Given the description of an element on the screen output the (x, y) to click on. 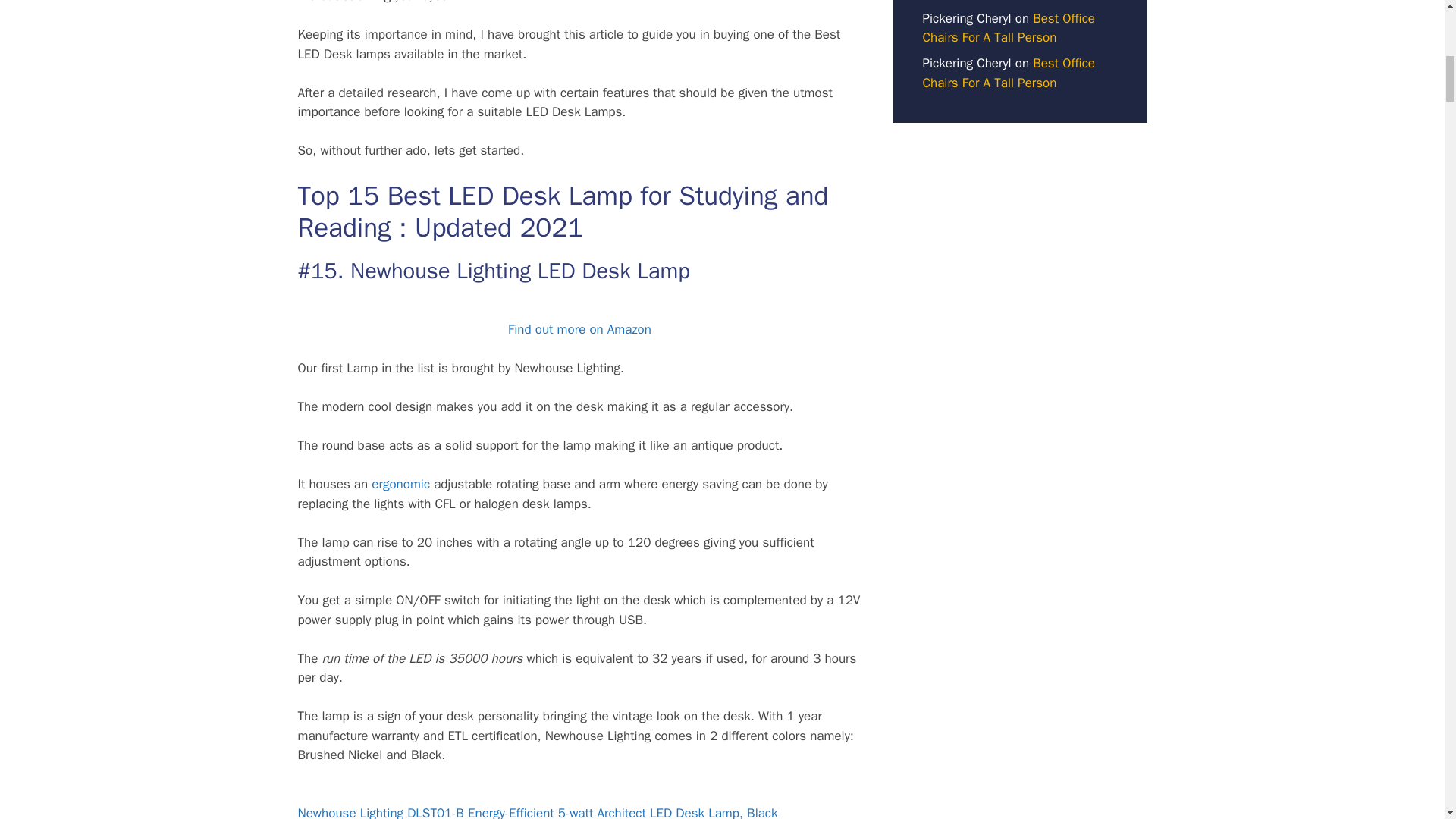
ergonomic (400, 483)
Find out more on Amazon (579, 329)
